Given the description of an element on the screen output the (x, y) to click on. 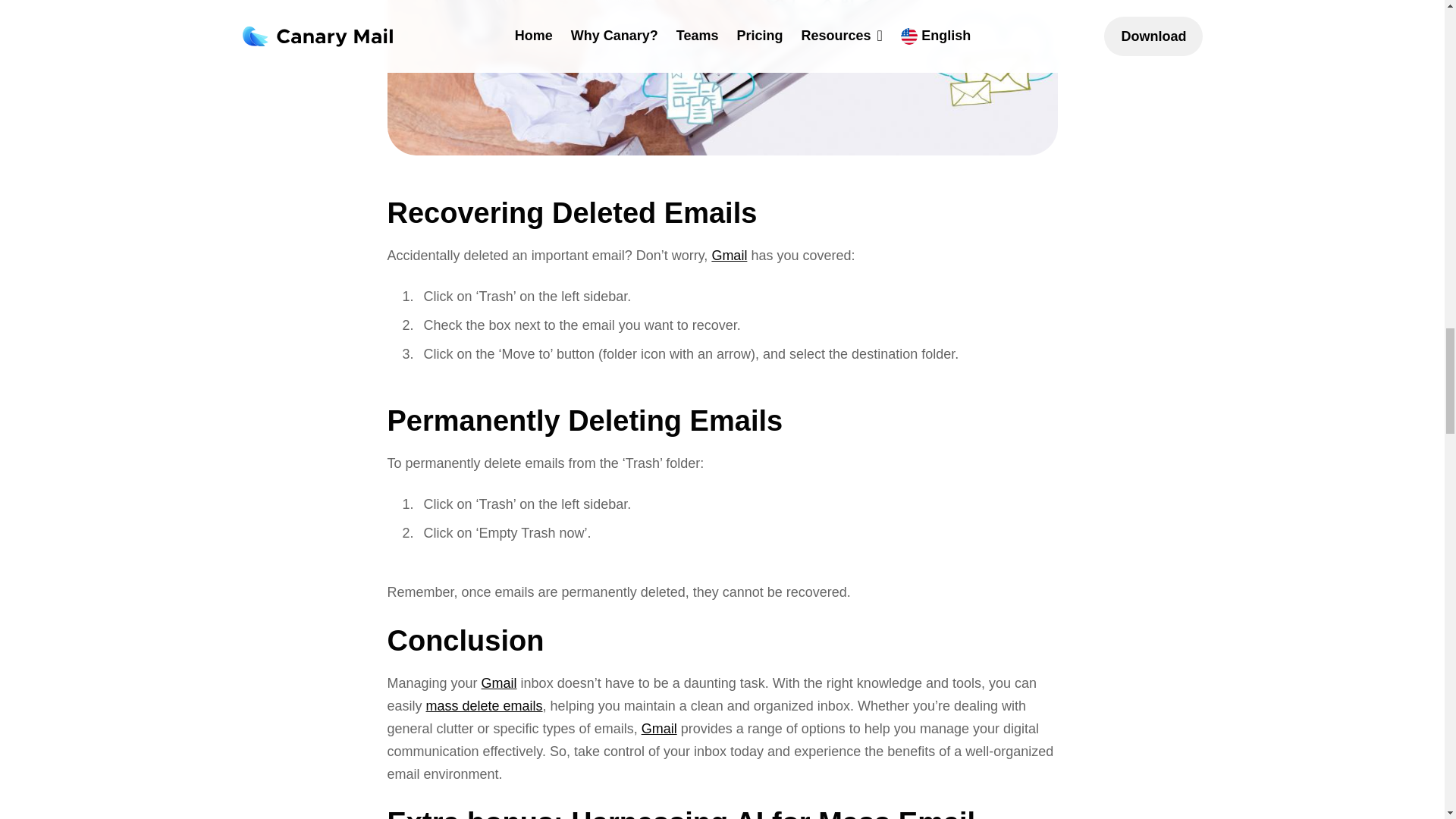
mass delete emails (484, 705)
Gmail (498, 683)
Gmail (728, 255)
Gmail (659, 728)
